Given the description of an element on the screen output the (x, y) to click on. 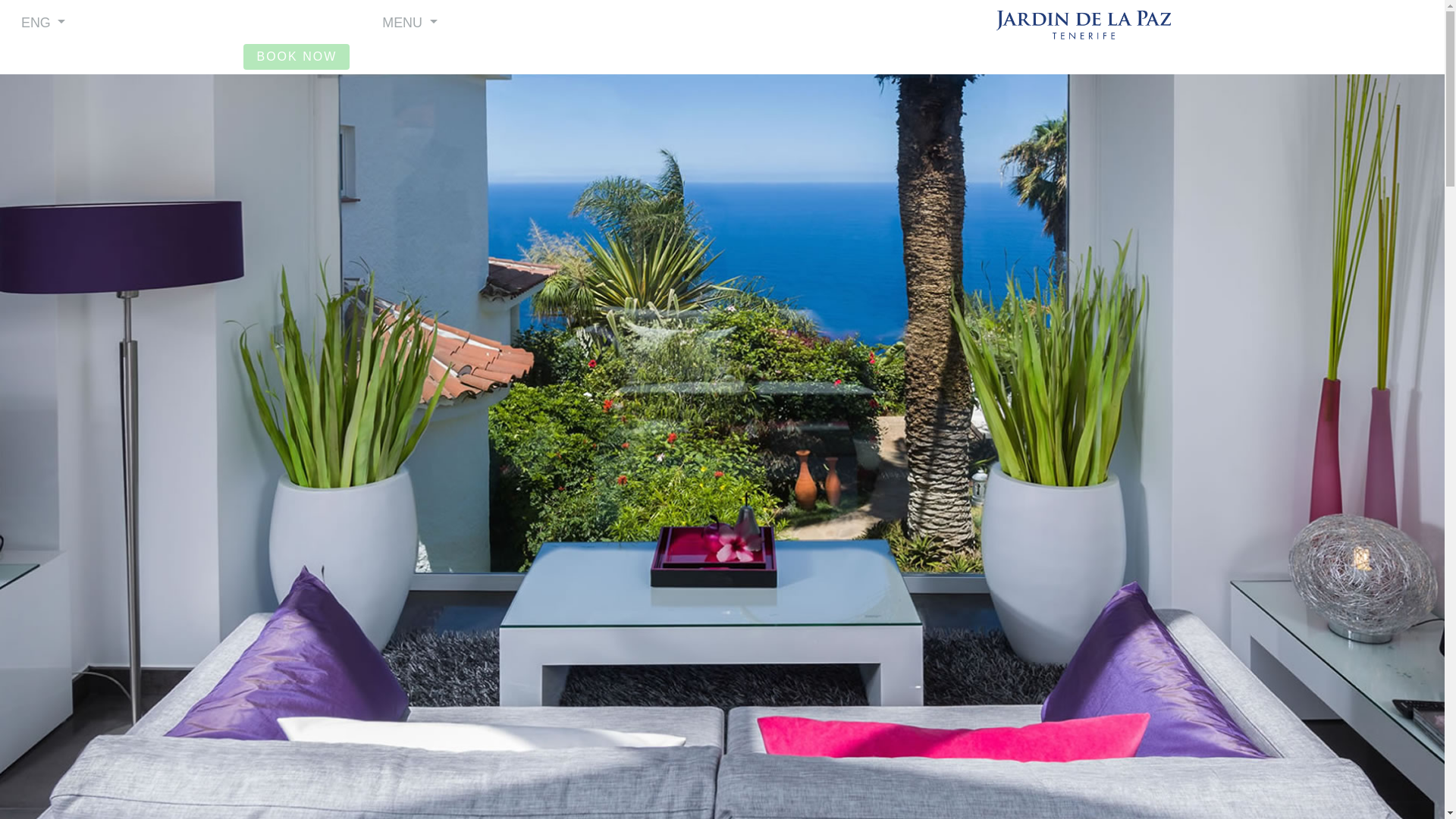
BOOK NOW (296, 56)
ENG (43, 21)
SPECIALS (438, 55)
APARTMENTS (154, 55)
CONTACT (1290, 55)
EVENTS (1006, 55)
MENU (409, 21)
